Given the description of an element on the screen output the (x, y) to click on. 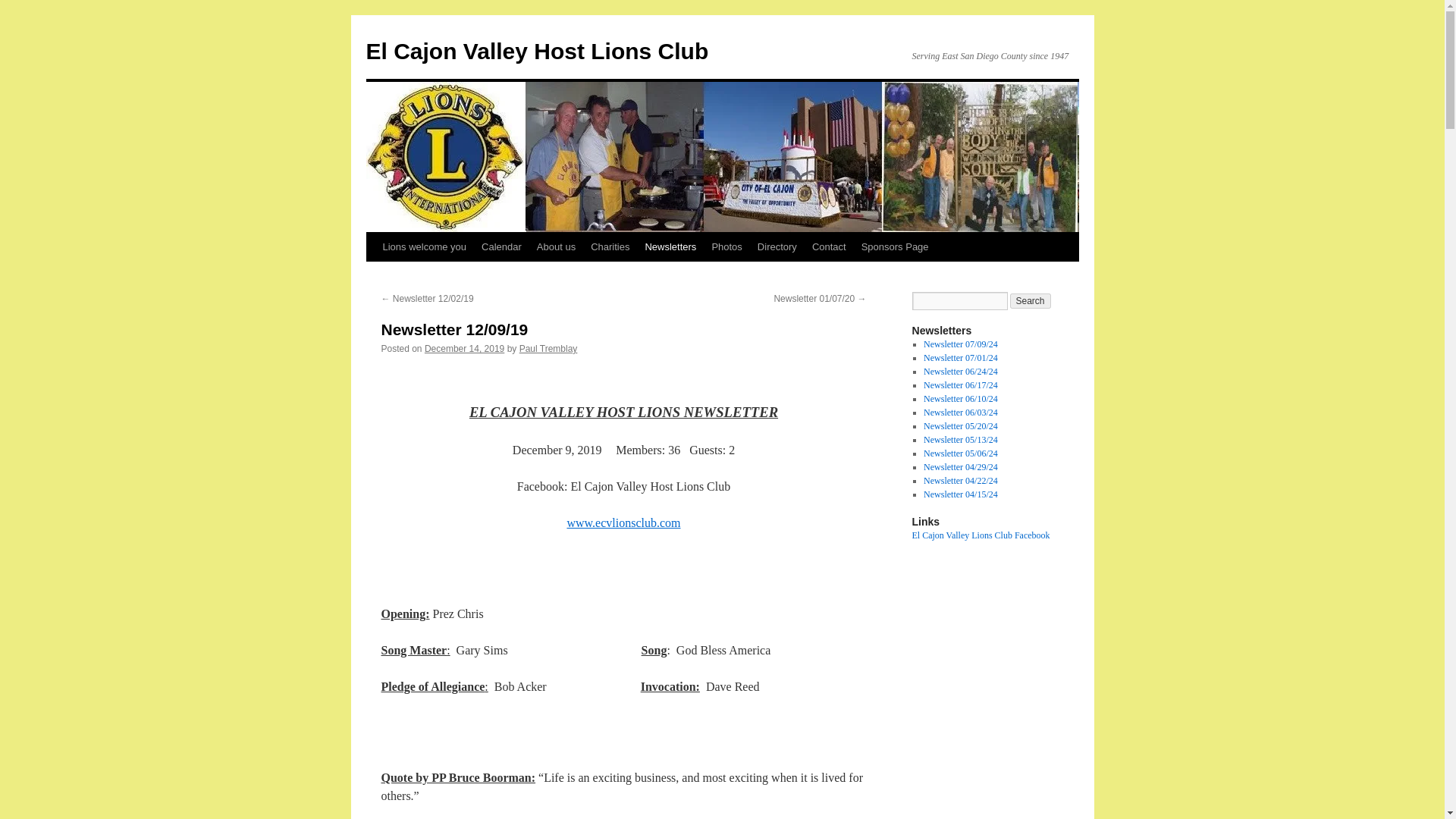
View all posts by Paul Tremblay (548, 348)
www.ecvlionsclub.com (622, 522)
Contact (829, 246)
Search (1030, 300)
Paul Tremblay (548, 348)
Charities (610, 246)
Calendar (501, 246)
Lions welcome you (424, 246)
Photos (726, 246)
4:17 pm (464, 348)
December 14, 2019 (464, 348)
Sponsors Page (894, 246)
About us (556, 246)
Newsletters (670, 246)
El Cajon Valley Host Lions Club (536, 50)
